Given the description of an element on the screen output the (x, y) to click on. 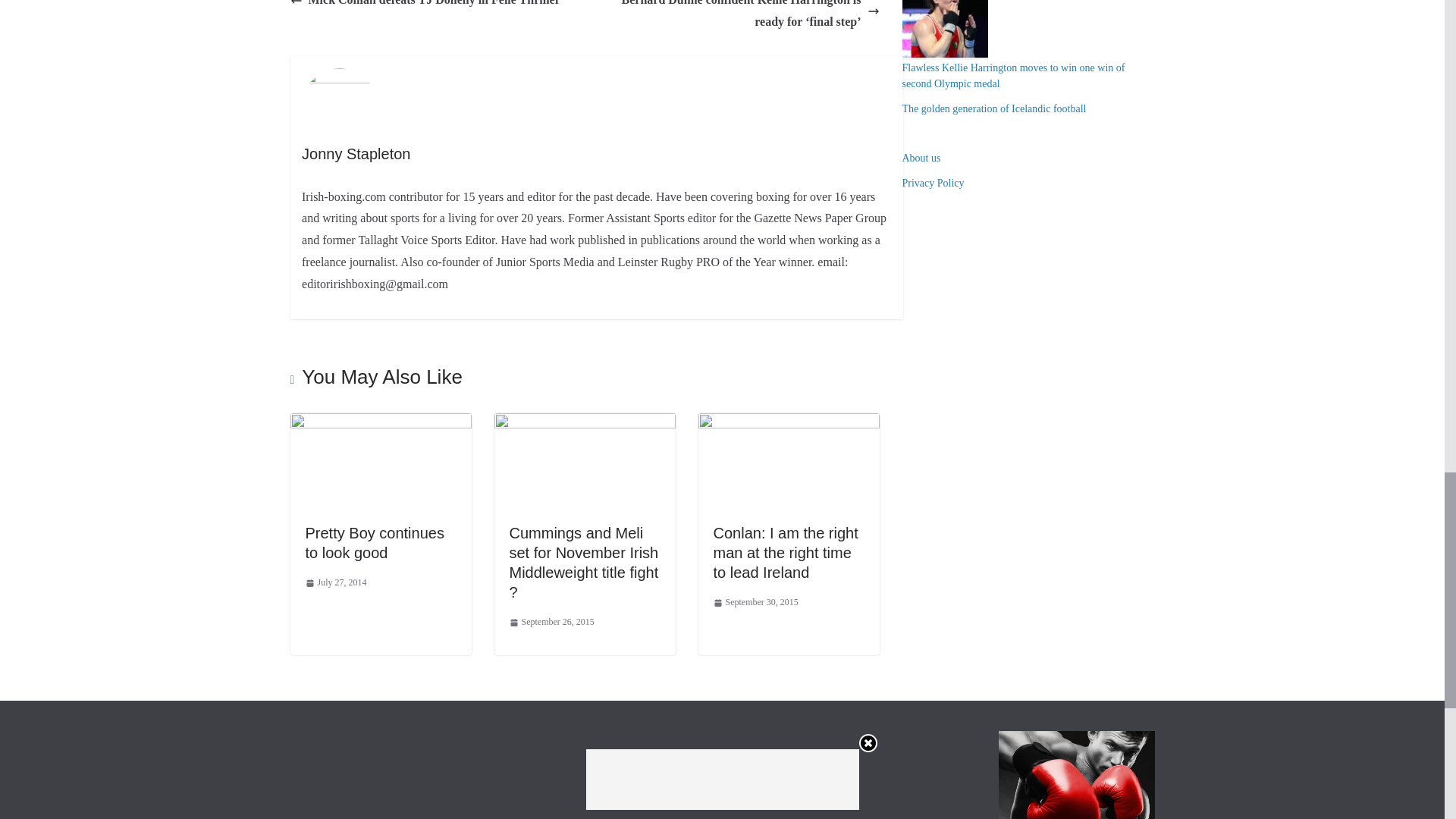
Conlan: I am the right man at the right time to lead Ireland (785, 552)
September 26, 2015 (551, 622)
Pretty Boy continues to look good (374, 542)
1:11 pm (755, 602)
Pretty Boy continues to look good (379, 422)
September 30, 2015 (755, 602)
Conlan: I am the right man at the right time to lead Ireland (785, 552)
2:01 pm (335, 582)
Conlan: I am the right man at the right time to lead Ireland (788, 422)
4:56 pm (551, 622)
Pretty Boy continues to look good (374, 542)
July 27, 2014 (335, 582)
